Given the description of an element on the screen output the (x, y) to click on. 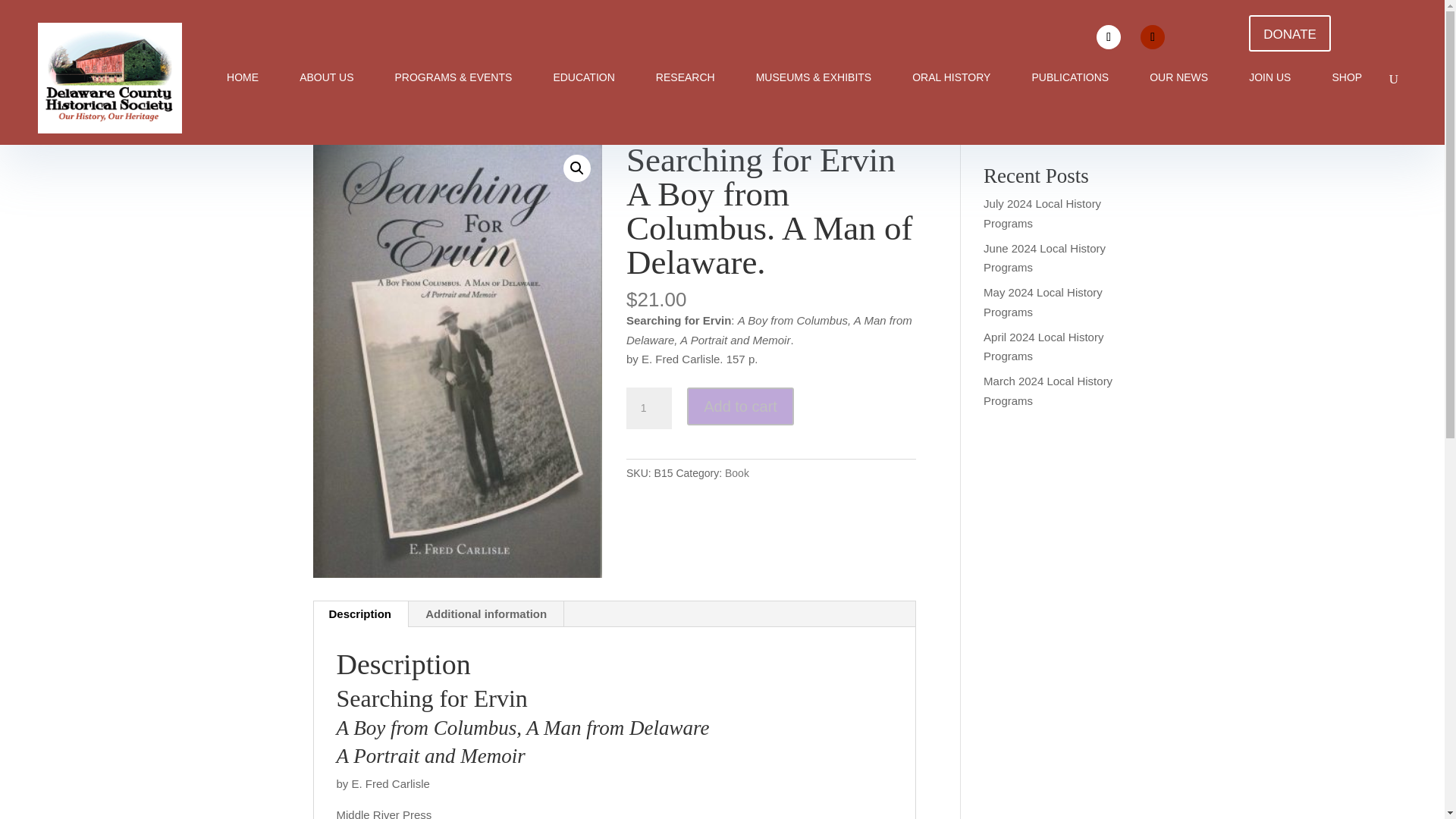
1 (648, 408)
Follow on Youtube (1152, 37)
JOIN US (1269, 77)
EDUCATION (583, 77)
OUR NEWS (1179, 77)
July 2024 Local History Programs (1042, 213)
Book (737, 472)
Home (326, 122)
Description (361, 614)
Follow on Facebook (1108, 37)
searchingforervinfrt-e1469376437491 (457, 360)
Search (1106, 128)
RESEARCH (685, 77)
PUBLICATIONS (1069, 77)
ORAL HISTORY (951, 77)
